Given the description of an element on the screen output the (x, y) to click on. 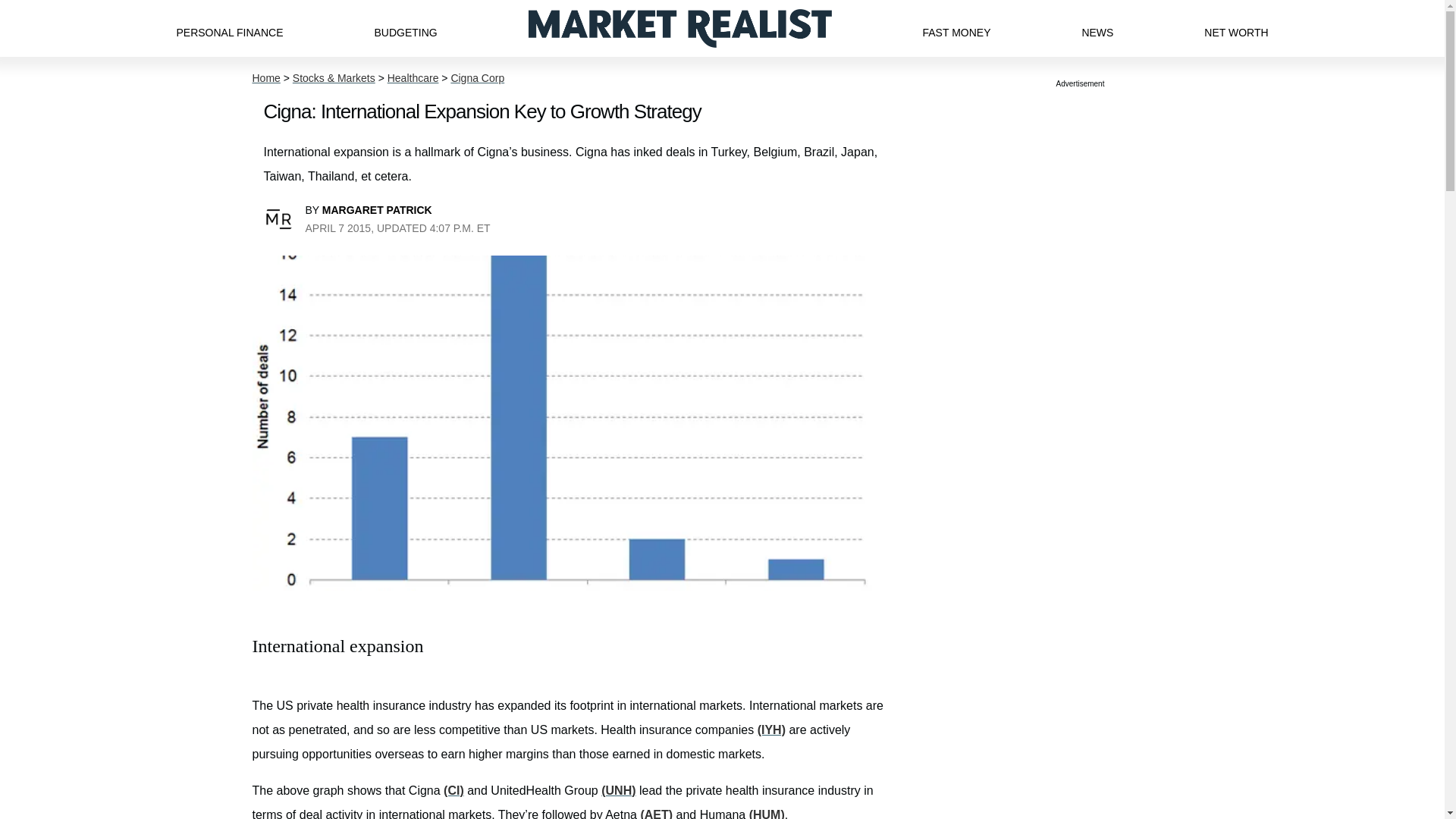
NEWS (1097, 27)
Home (265, 78)
Healthcare (413, 78)
Cigna Corp (476, 78)
BUDGETING (405, 27)
FAST MONEY (955, 27)
MARGARET PATRICK (376, 209)
PERSONAL FINANCE (229, 27)
NET WORTH (1236, 27)
